Given the description of an element on the screen output the (x, y) to click on. 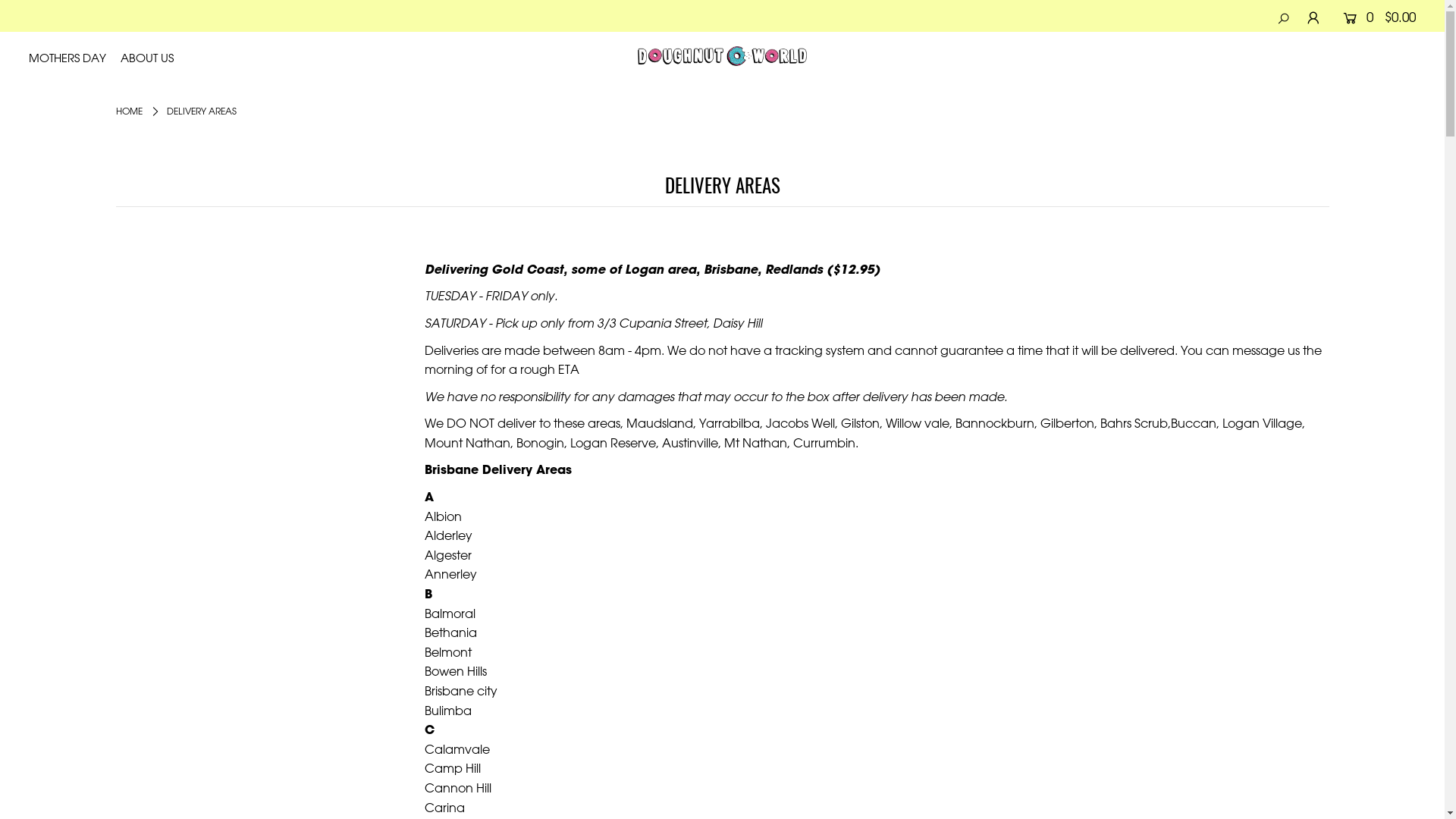
ABOUT US Element type: text (152, 57)
MOTHERS DAY Element type: text (72, 57)
  0  $0.00 Element type: text (1374, 16)
HOME Element type: text (128, 110)
